Given the description of an element on the screen output the (x, y) to click on. 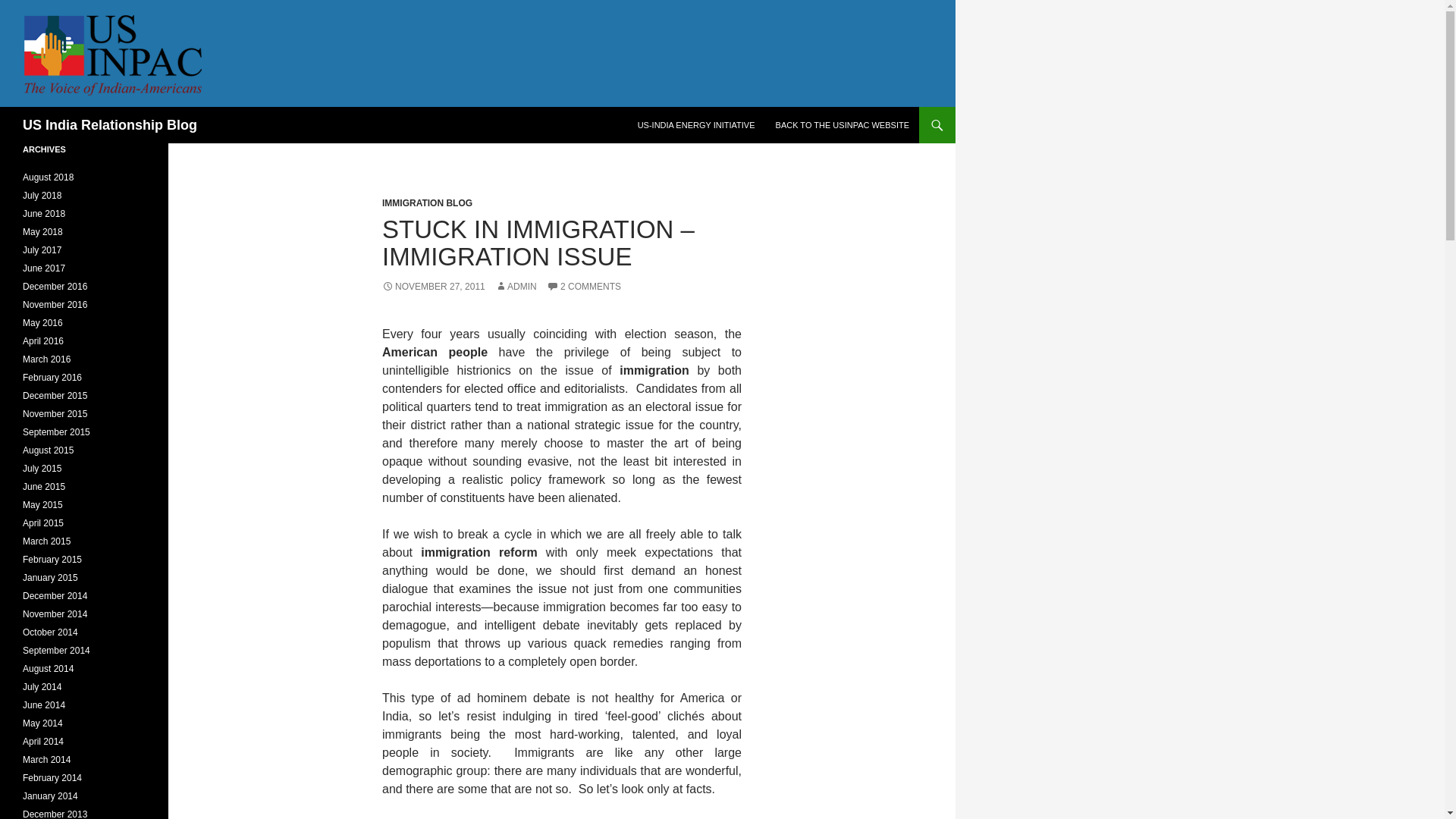
IMMIGRATION BLOG (426, 203)
BACK TO THE USINPAC WEBSITE (842, 125)
NOVEMBER 27, 2011 (432, 286)
View all posts in Immigration Blog (426, 203)
2 COMMENTS (584, 286)
US India Relationship Blog (109, 125)
ADMIN (516, 286)
July 2018 (42, 195)
US-INDIA ENERGY INITIATIVE (696, 125)
August 2018 (48, 176)
